Given the description of an element on the screen output the (x, y) to click on. 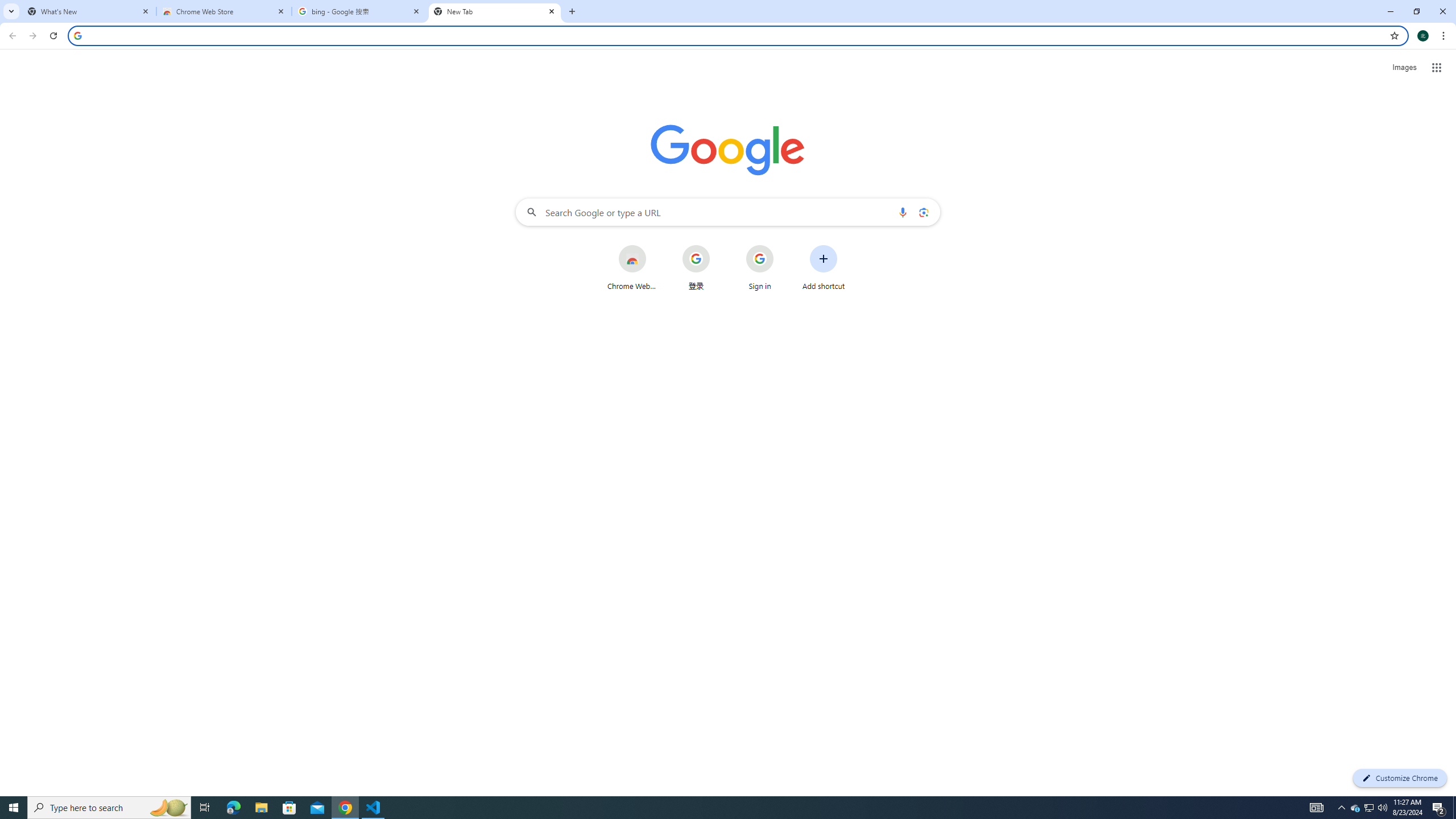
Colors (1076, 92)
Basic (Elegant) (151, 91)
Page Color (1342, 92)
Basic (Stylish) (273, 91)
Shaded (948, 91)
Effects (1167, 91)
Undo Apply Quick Style Set (159, 18)
Repeat Style (193, 18)
Lines (Distinctive) (703, 91)
Basic (Simple) (212, 91)
